Given the description of an element on the screen output the (x, y) to click on. 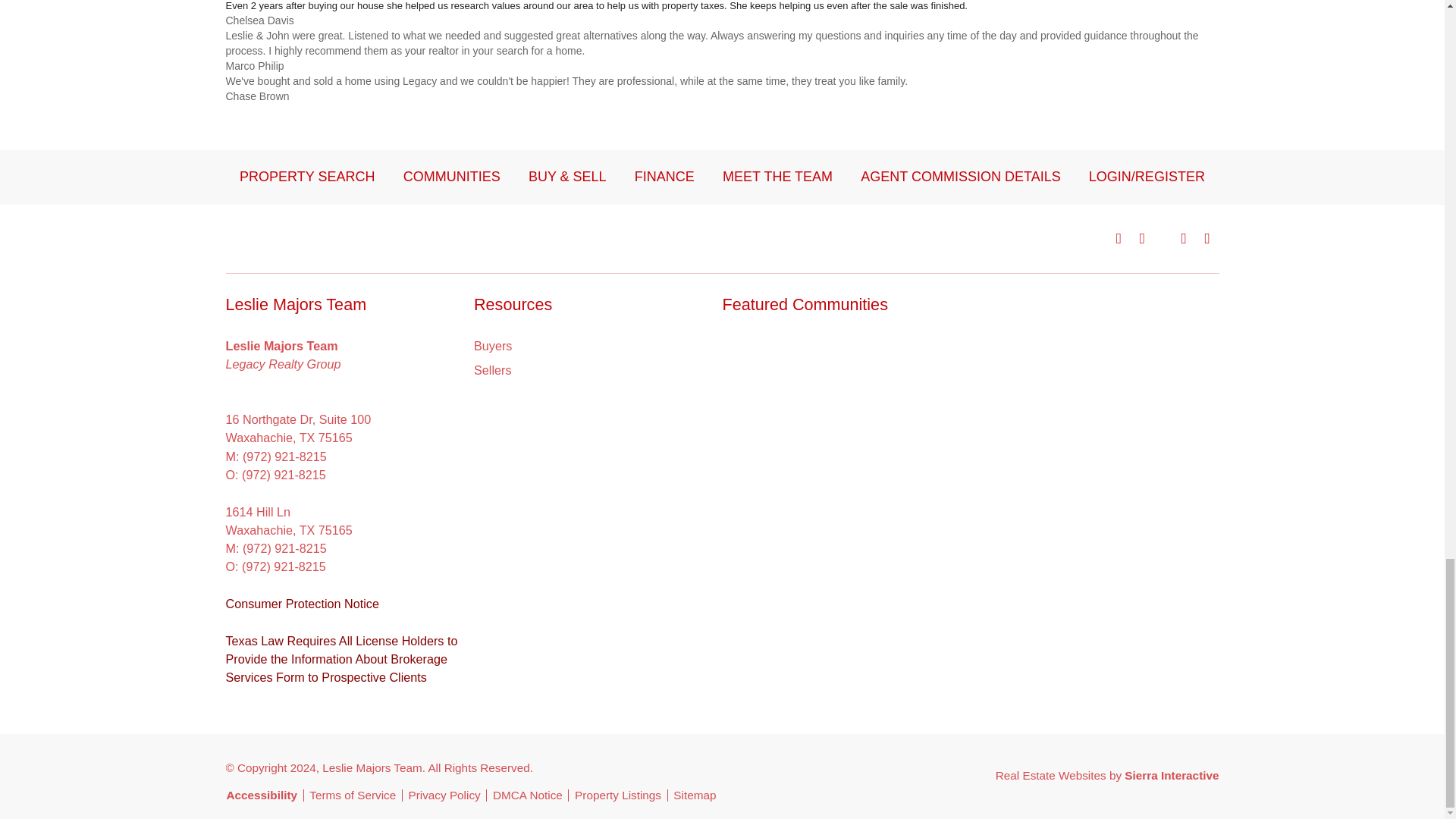
Follow us on Twitter (1163, 238)
Follow us on Instagram (1142, 238)
Follow us on LinkedIn (1207, 238)
Follow us on Facebook (1118, 238)
View Buyers (493, 345)
Home Page (319, 237)
Follow us on YouTube (1183, 238)
